Given the description of an element on the screen output the (x, y) to click on. 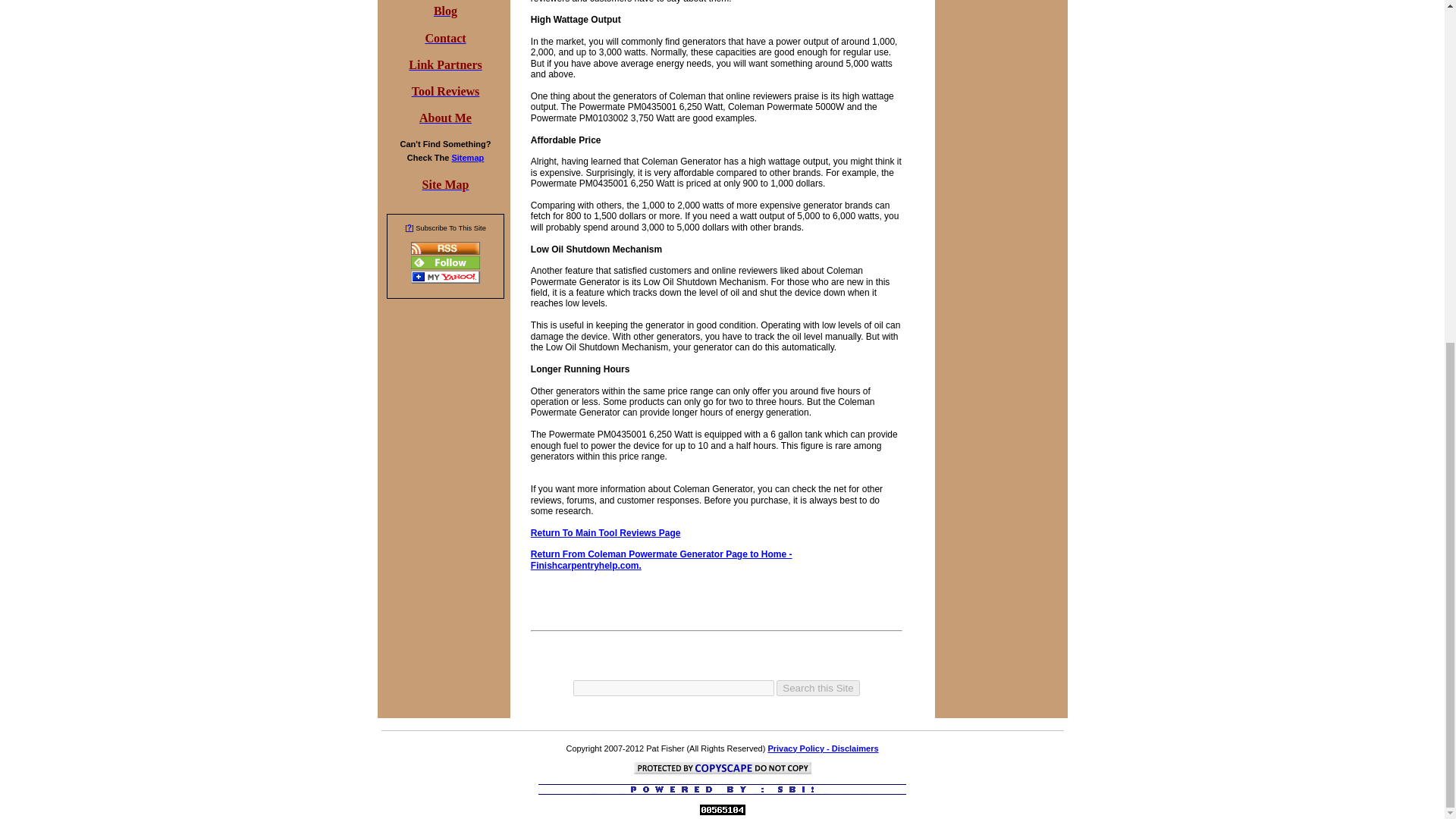
Privacy Policy - Disclaimers (822, 747)
Return To Main Tool Reviews Page (606, 532)
Tool Reviews (446, 92)
Contact (445, 39)
Sitemap (467, 157)
Site Map (445, 185)
About Me (445, 118)
Blog (445, 11)
Search this Site (817, 688)
Search this Site (817, 688)
Link Partners (445, 65)
